Given the description of an element on the screen output the (x, y) to click on. 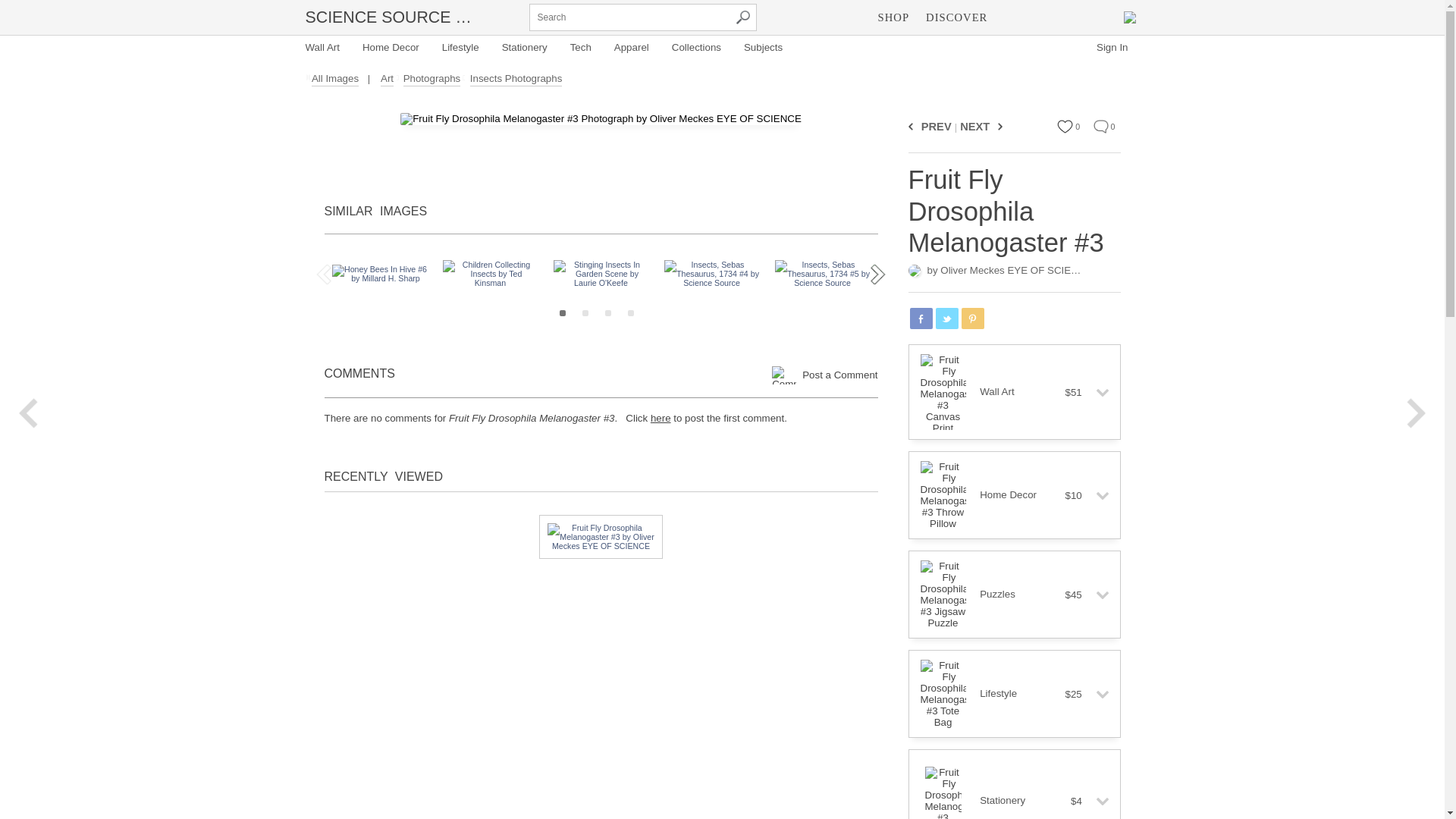
Share Product on Pinterest (972, 318)
Favorite (1065, 126)
SCIENCE SOURCE Prints (390, 16)
Previous Image (913, 126)
Next Image (997, 126)
Search (742, 17)
SHOP (892, 16)
Expand Product (1096, 392)
Share Product on Facebook (921, 318)
Comment (1100, 126)
Share Product on Twitter (947, 318)
DISCOVER (956, 16)
